Given the description of an element on the screen output the (x, y) to click on. 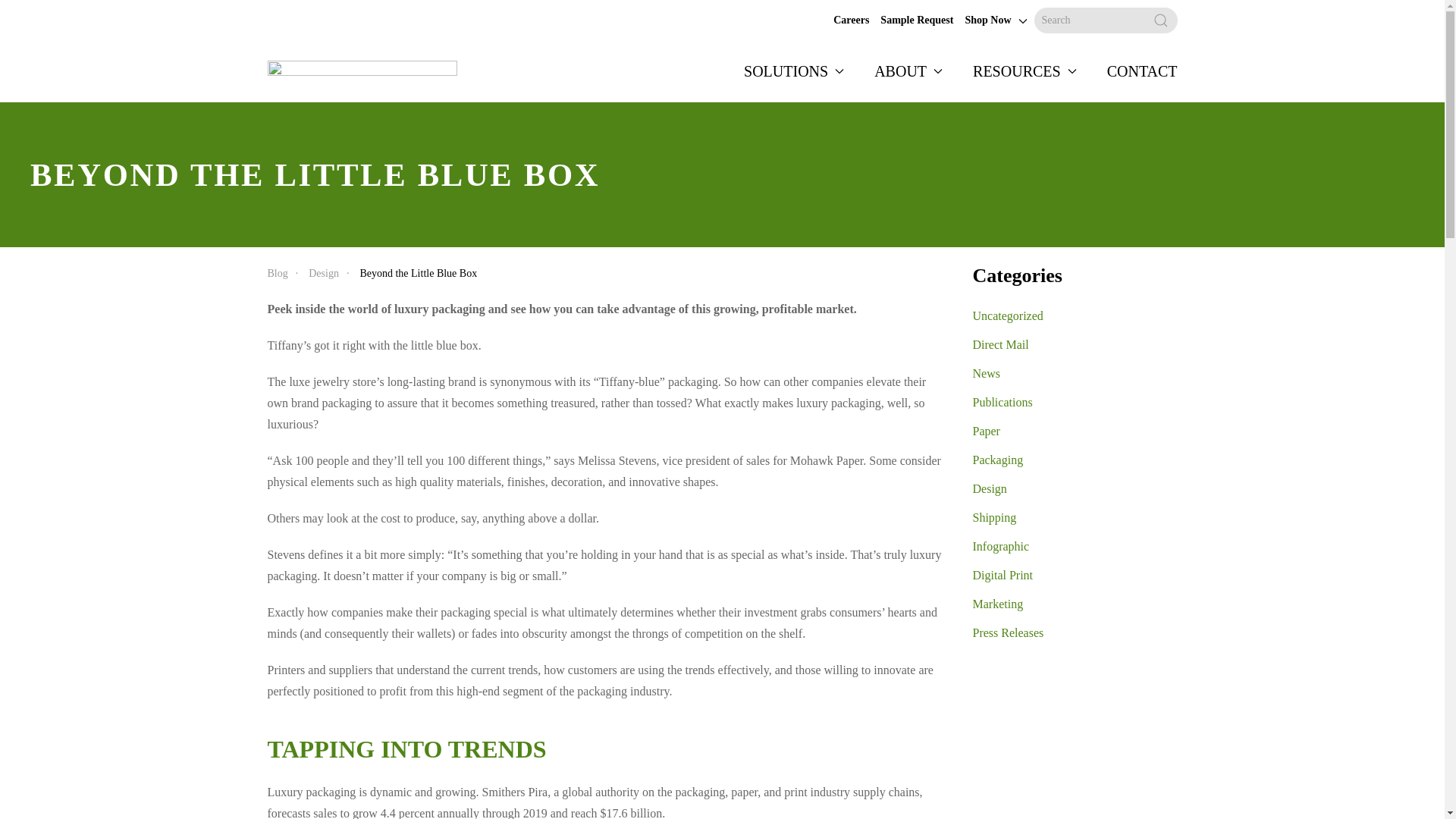
Careers (850, 20)
Shop Now (986, 20)
Sample Request (916, 20)
ABOUT (908, 70)
SOLUTIONS (794, 70)
